Given the description of an element on the screen output the (x, y) to click on. 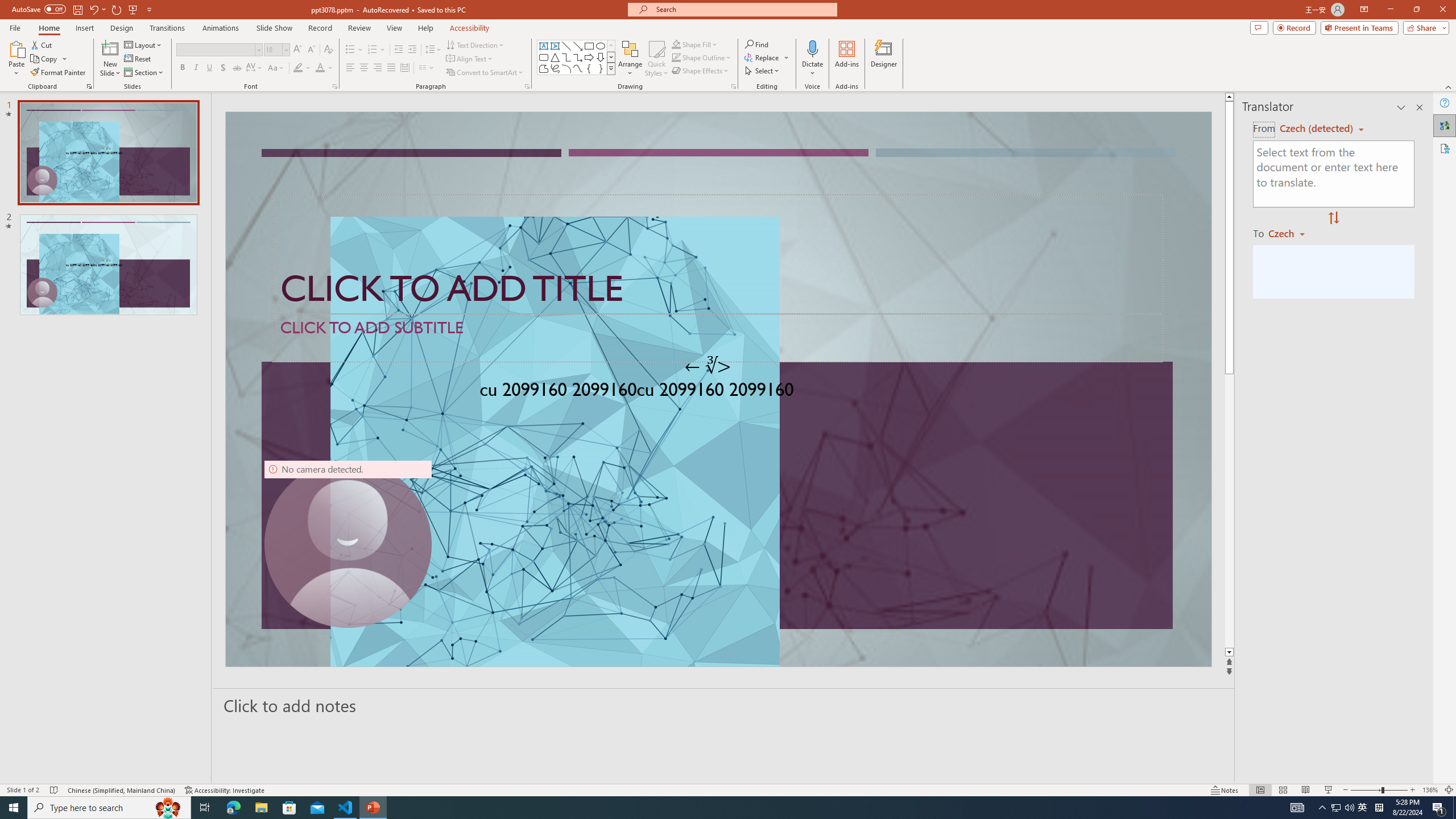
Zoom 136% (1430, 790)
Czech (1291, 232)
